Given the description of an element on the screen output the (x, y) to click on. 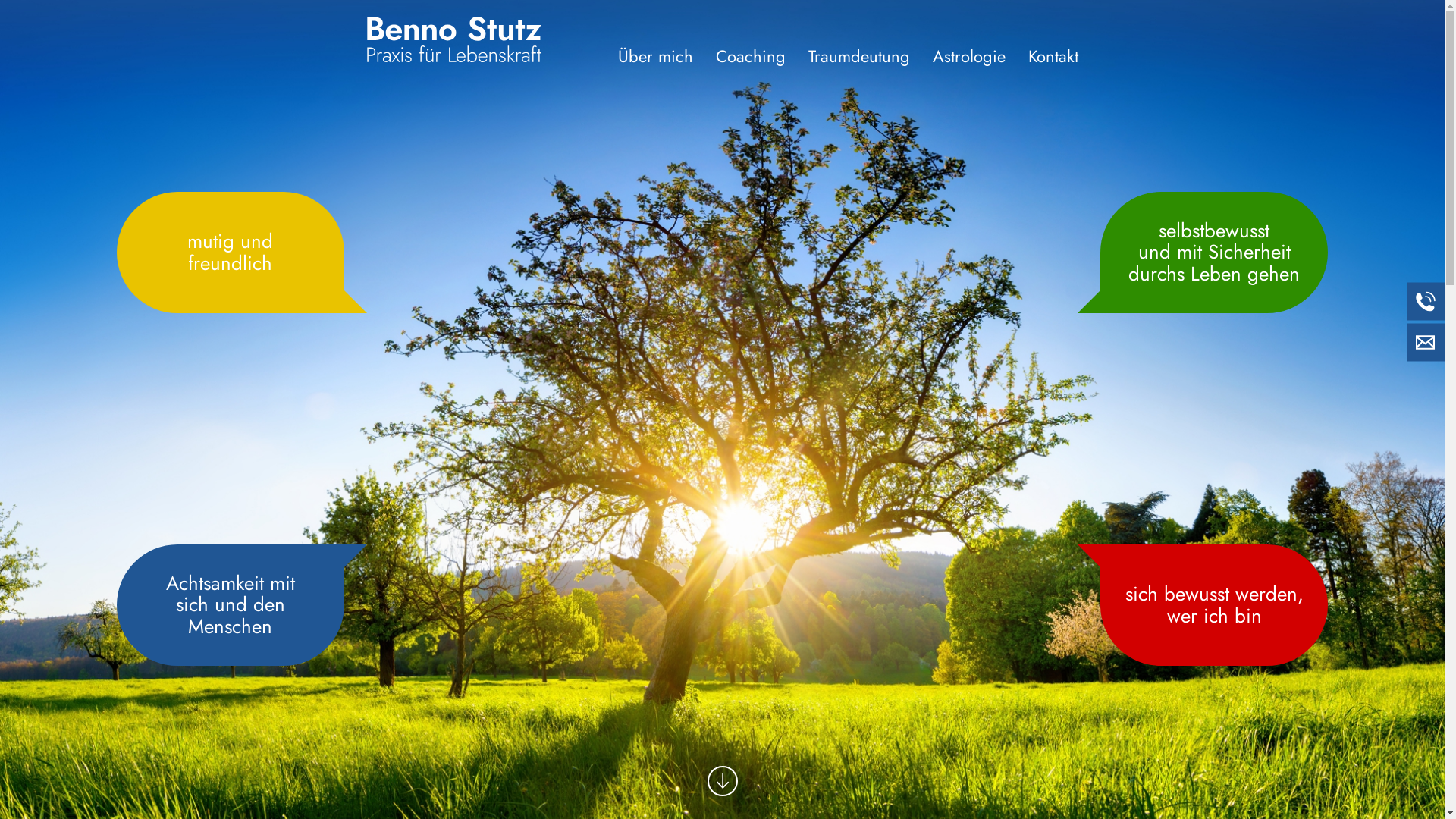
sich bewusst werden,
wer ich bin Element type: text (1213, 604)
Achtsamkeit mit
sich und den
Menschen Element type: text (230, 604)
selbstbewusst
und mit Sicherheit
durchs Leben gehen Element type: text (1213, 251)
Traumdeutung Element type: text (859, 55)
Astrologie Element type: text (968, 55)
Coaching Element type: text (750, 55)
Kontakt Element type: text (1053, 55)
mutig und
freundlich Element type: text (230, 251)
